Given the description of an element on the screen output the (x, y) to click on. 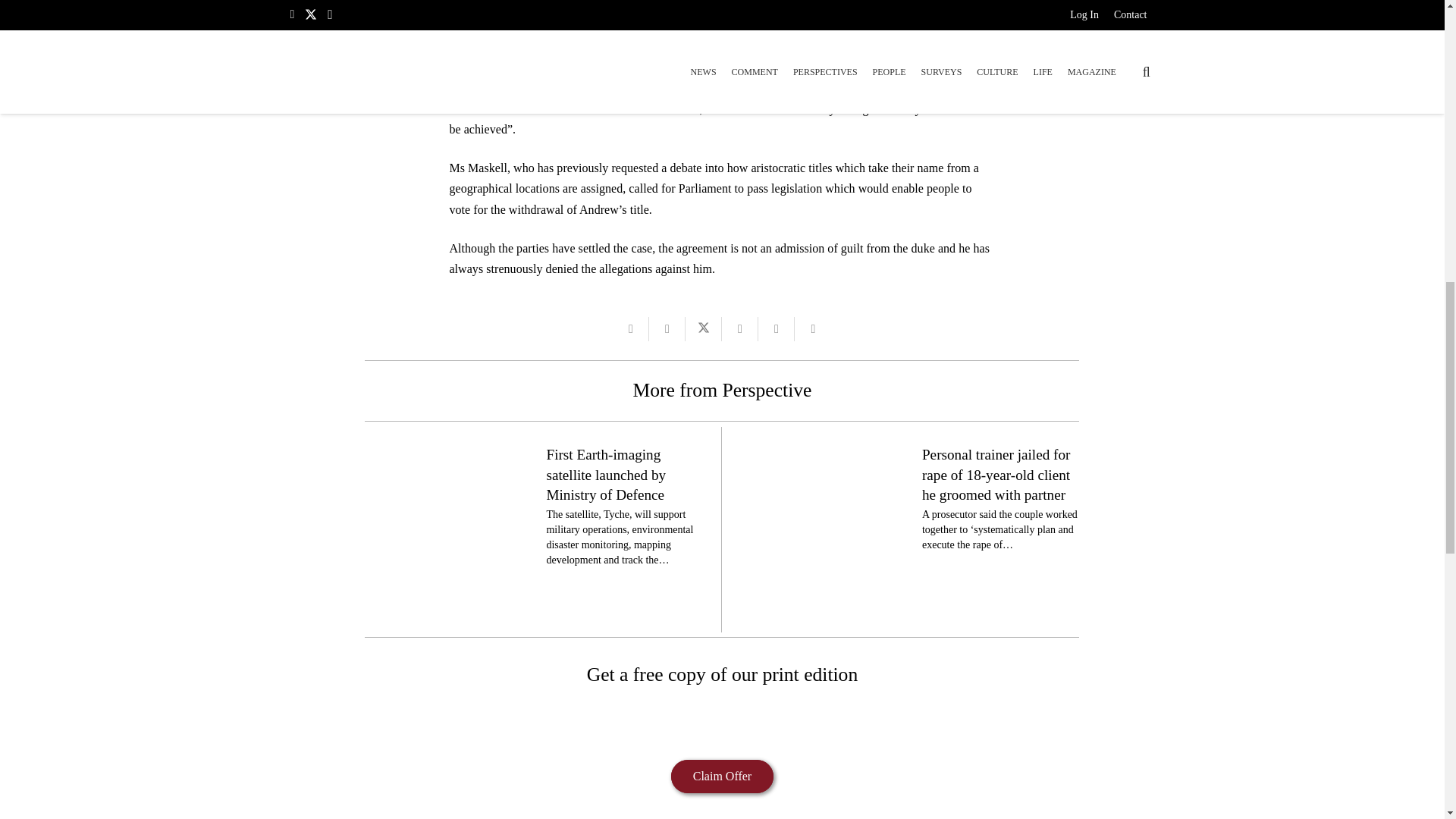
Share this (740, 328)
Share this (812, 328)
Claim Offer (722, 776)
Share this (667, 328)
Email this (630, 328)
Share this (776, 328)
Back to top (1413, 26)
Tweet this (703, 328)
